Given the description of an element on the screen output the (x, y) to click on. 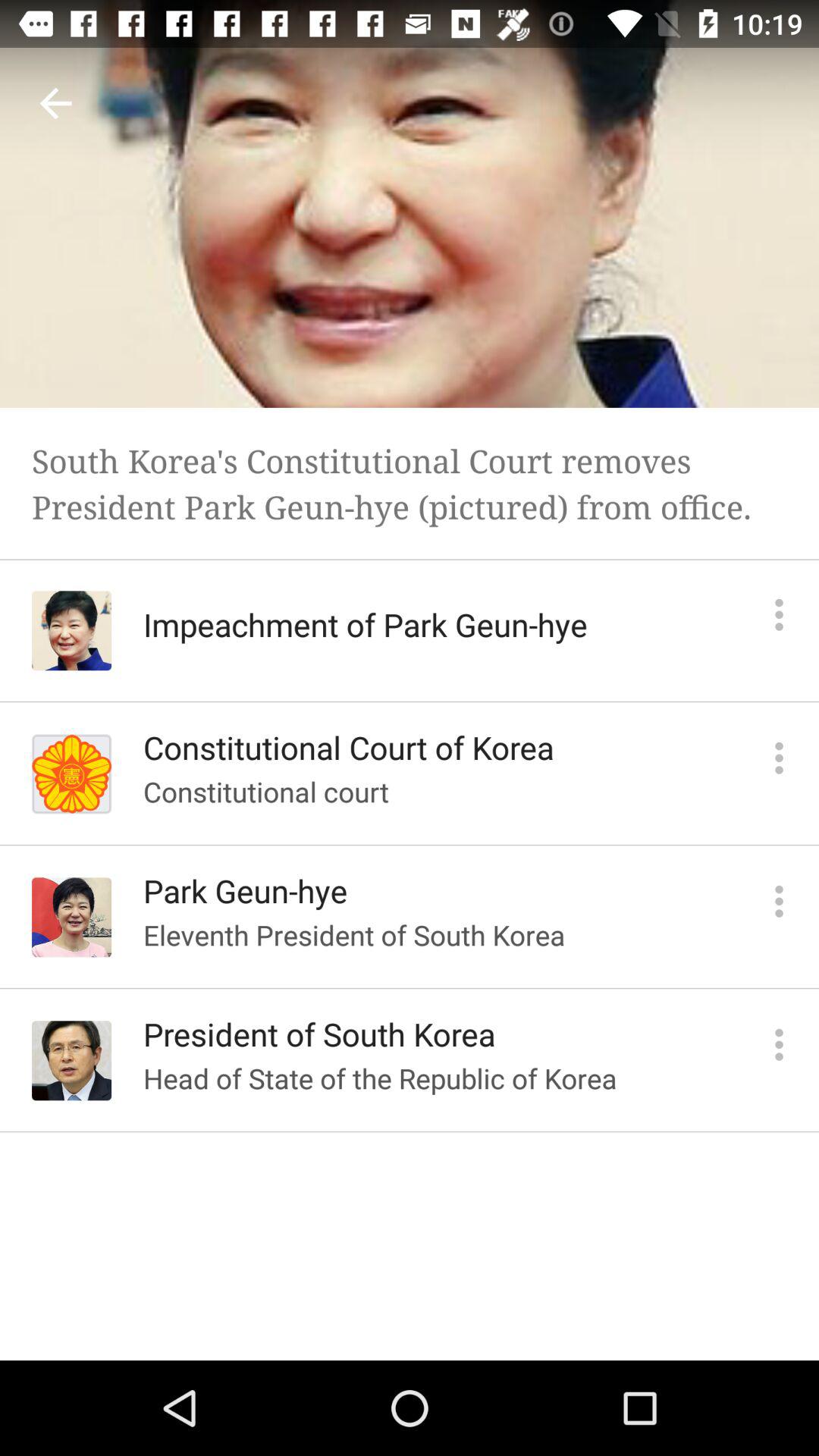
go to more options (779, 757)
